Given the description of an element on the screen output the (x, y) to click on. 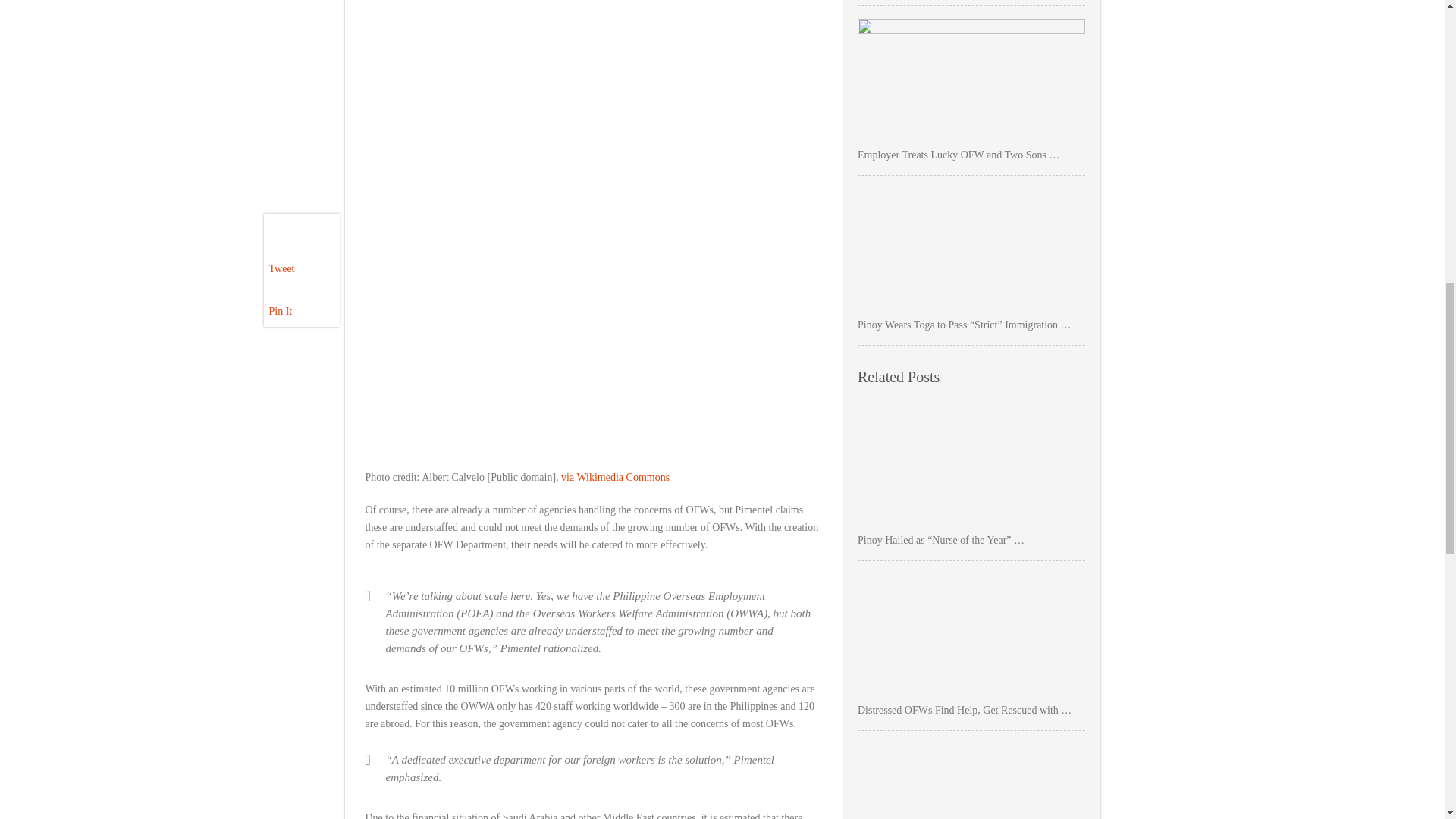
via Wikimedia Commons (614, 477)
Advertisement (593, 22)
